Given the description of an element on the screen output the (x, y) to click on. 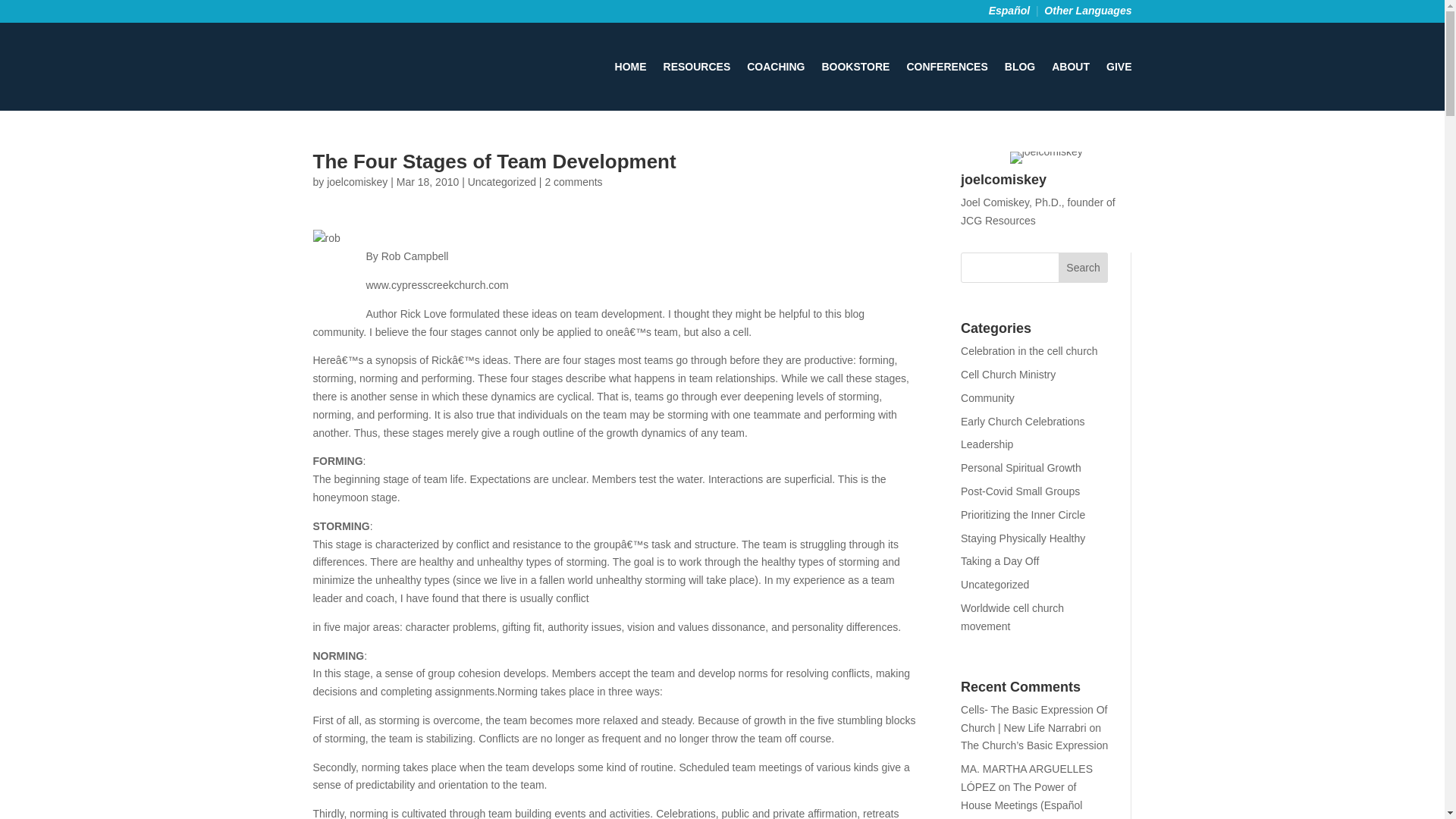
Post-Covid Small Groups (1020, 491)
ABOUT (1070, 66)
Staying Physically Healthy (1022, 538)
Early Church Celebrations (1022, 421)
Personal Spiritual Growth (1020, 467)
Search (1083, 267)
Leadership (986, 444)
Other Languages (1087, 10)
Prioritizing the Inner Circle (1022, 514)
Community (987, 398)
Posts by joelcomiskey (356, 182)
Uncategorized (994, 584)
Search (1083, 267)
BOOKSTORE (855, 66)
joelcomiskey (356, 182)
